Given the description of an element on the screen output the (x, y) to click on. 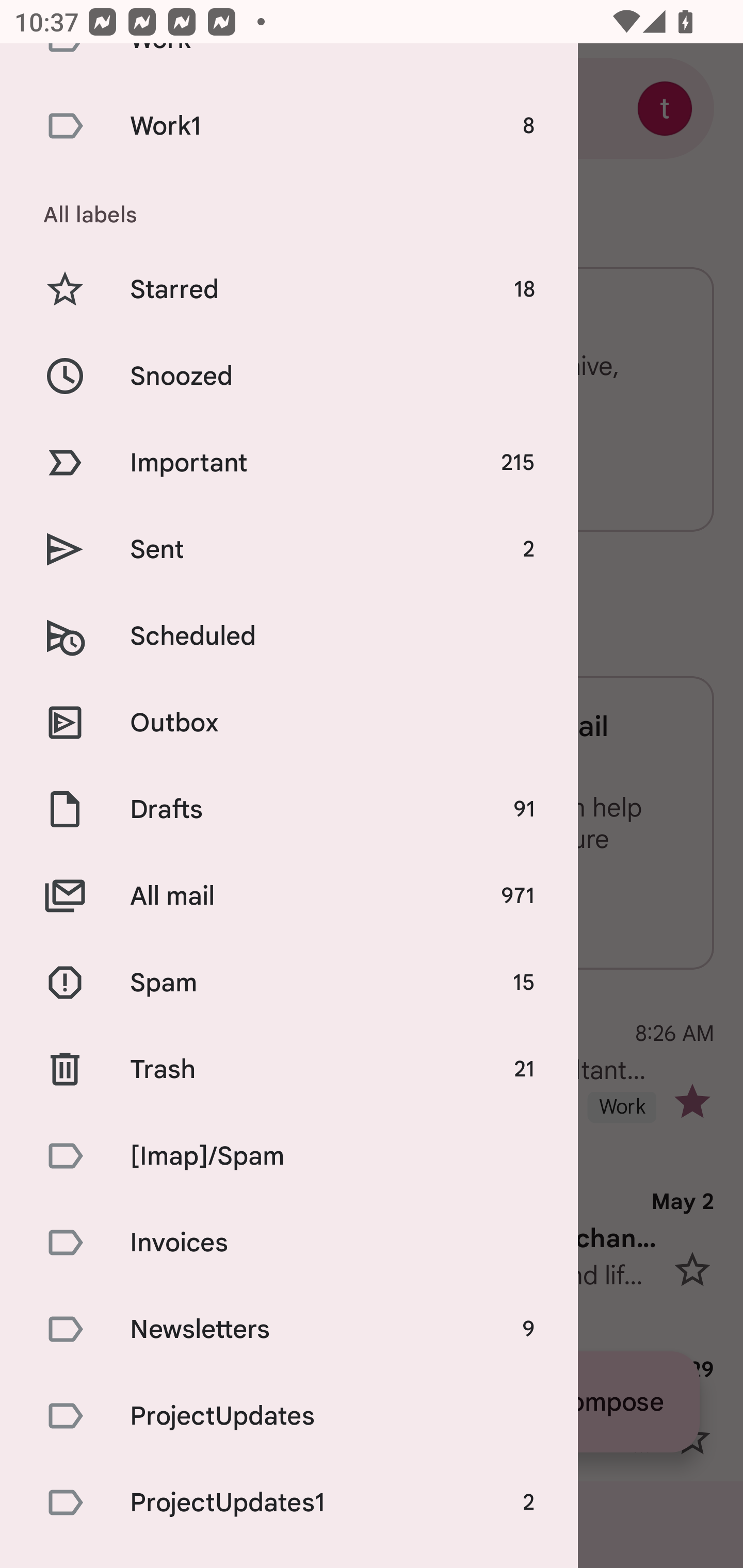
Work1 8 (289, 126)
Starred 18 (289, 289)
Snoozed (289, 375)
Important 215 (289, 462)
Sent 2 (289, 549)
Scheduled (289, 635)
Outbox (289, 721)
Drafts 91 (289, 808)
All mail 971 (289, 895)
Spam 15 (289, 982)
Trash 21 (289, 1069)
[Imap]/Spam (289, 1156)
Invoices (289, 1242)
Newsletters 9 (289, 1328)
ProjectUpdates (289, 1415)
ProjectUpdates1 2 (289, 1502)
